Given the description of an element on the screen output the (x, y) to click on. 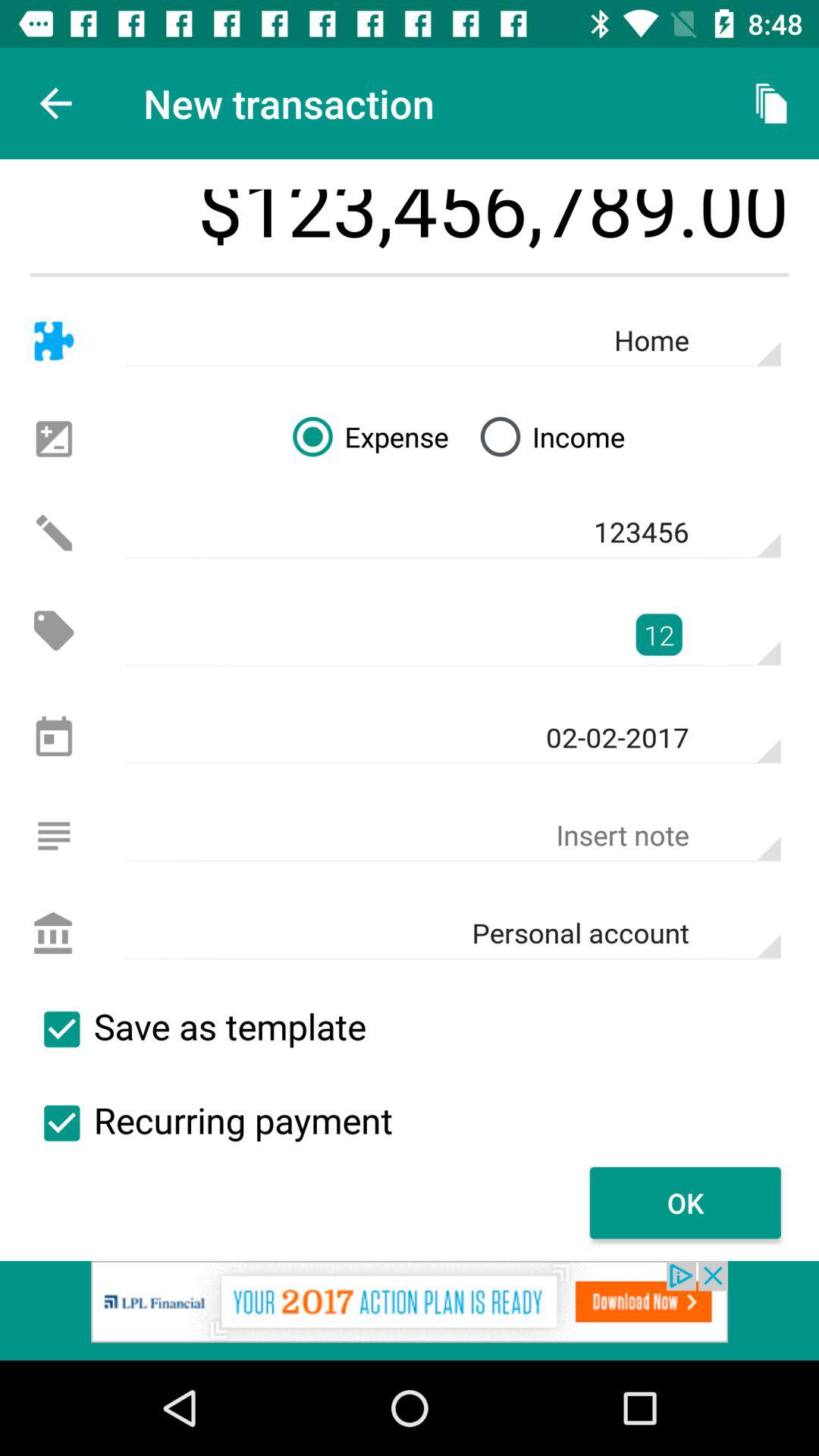
write note (53, 835)
